Given the description of an element on the screen output the (x, y) to click on. 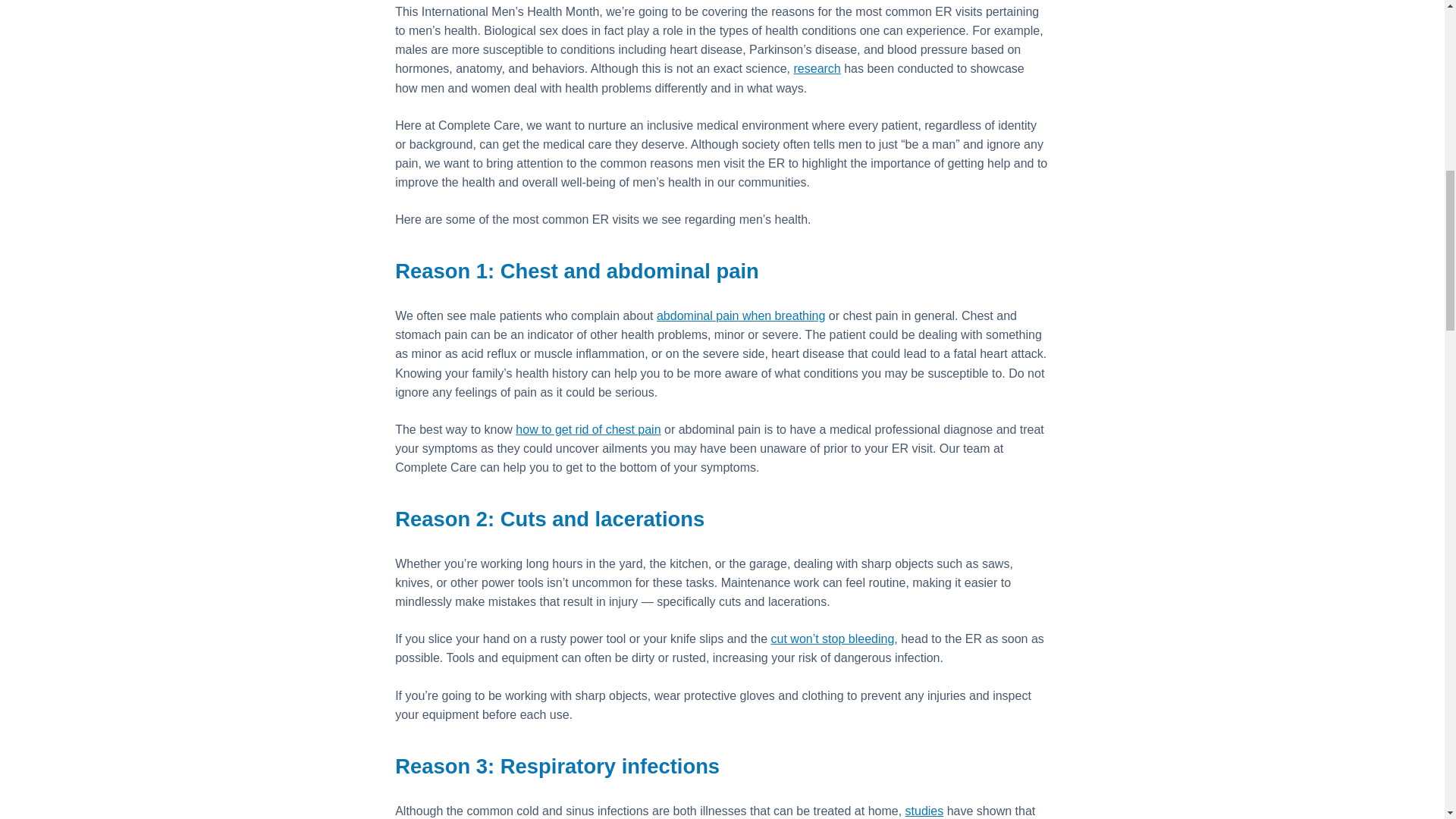
abdominal pain when breathing (740, 315)
studies (924, 810)
how to get rid of chest pain (588, 429)
research (816, 68)
